Given the description of an element on the screen output the (x, y) to click on. 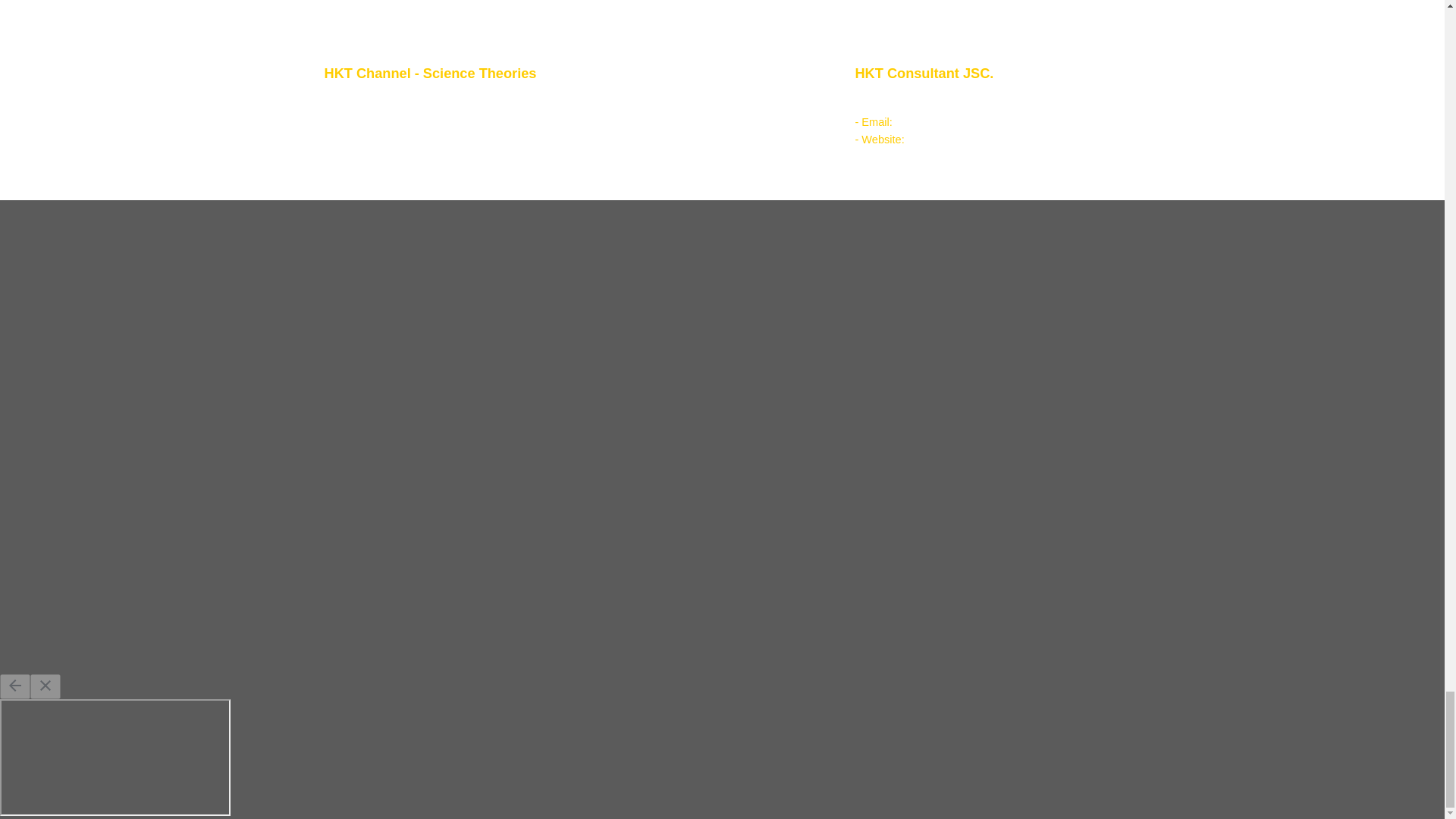
About us (378, 101)
About HKT CHANNEL (389, 118)
